Given the description of an element on the screen output the (x, y) to click on. 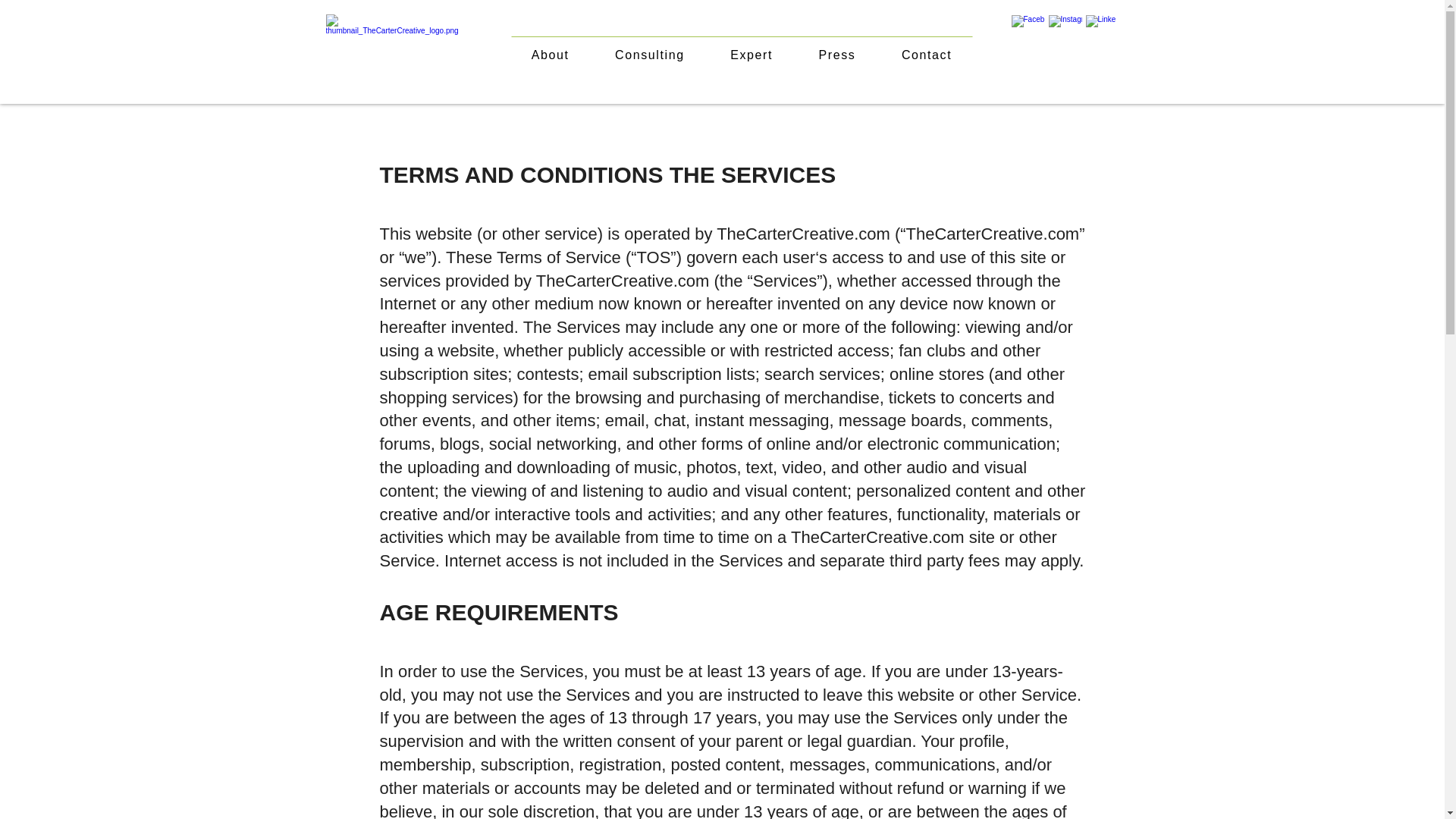
Expert (751, 53)
Consulting (649, 53)
About (549, 53)
Press (836, 53)
Contact (927, 53)
